Given the description of an element on the screen output the (x, y) to click on. 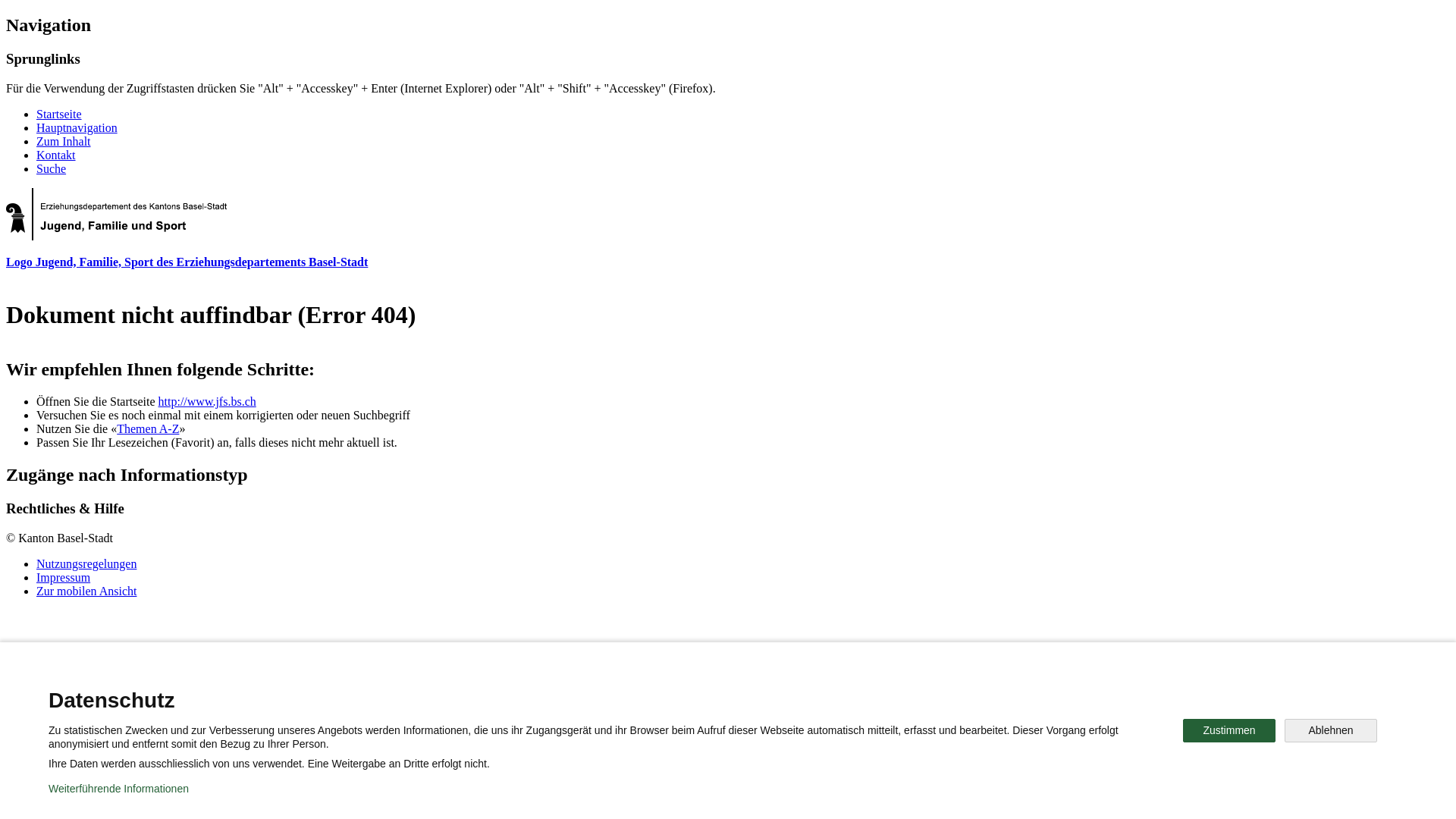
Kontakt Element type: text (55, 154)
Impressum Element type: text (63, 577)
Zur mobilen Ansicht Element type: text (86, 590)
Suche Element type: text (50, 168)
Ablehnen Element type: text (1330, 730)
Startseite Element type: text (58, 113)
Hauptnavigation Element type: text (76, 127)
Themen A-Z Element type: text (147, 428)
Zum Inhalt Element type: text (63, 140)
http://www.jfs.bs.ch Element type: text (207, 401)
Zustimmen Element type: text (1229, 730)
Nutzungsregelungen Element type: text (86, 563)
